Given the description of an element on the screen output the (x, y) to click on. 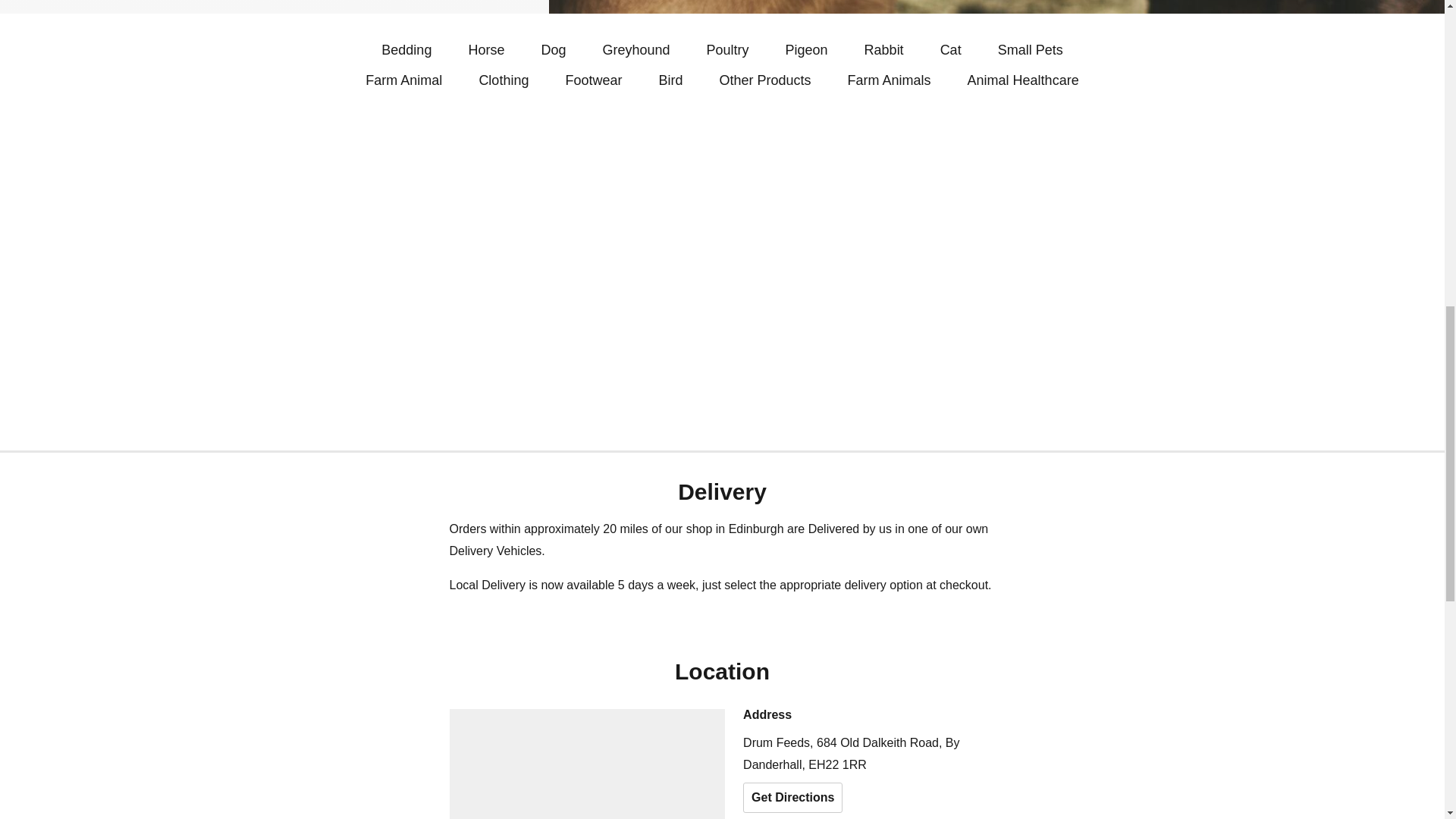
Location on map (586, 764)
Pigeon (807, 49)
Poultry (727, 49)
Dog (553, 49)
Bedding (405, 49)
Greyhound (635, 49)
Horse (485, 49)
